Given the description of an element on the screen output the (x, y) to click on. 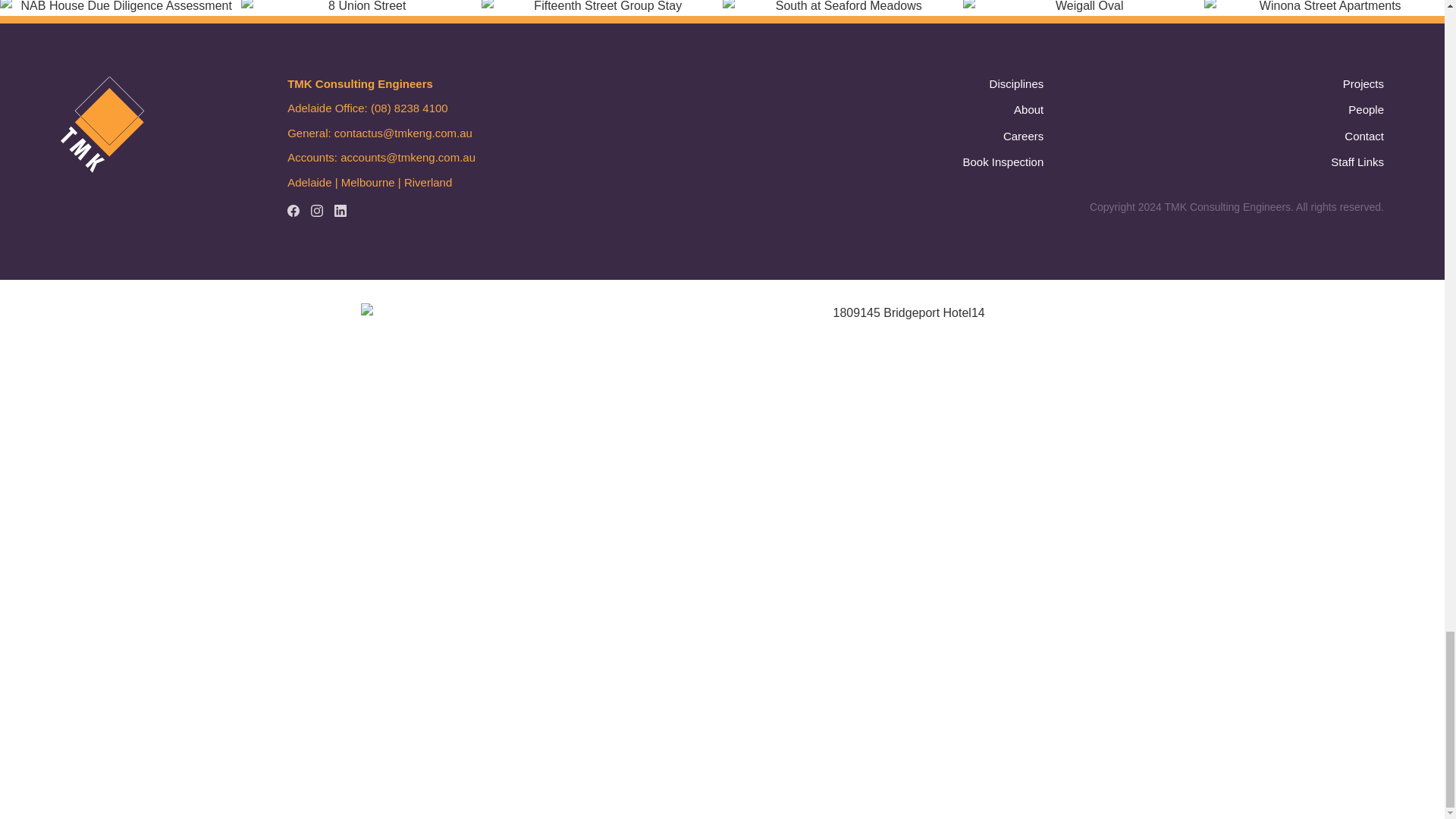
TMK on facebook (292, 210)
TMK on linkedIn (340, 210)
TMK on instagram (317, 210)
